Given the description of an element on the screen output the (x, y) to click on. 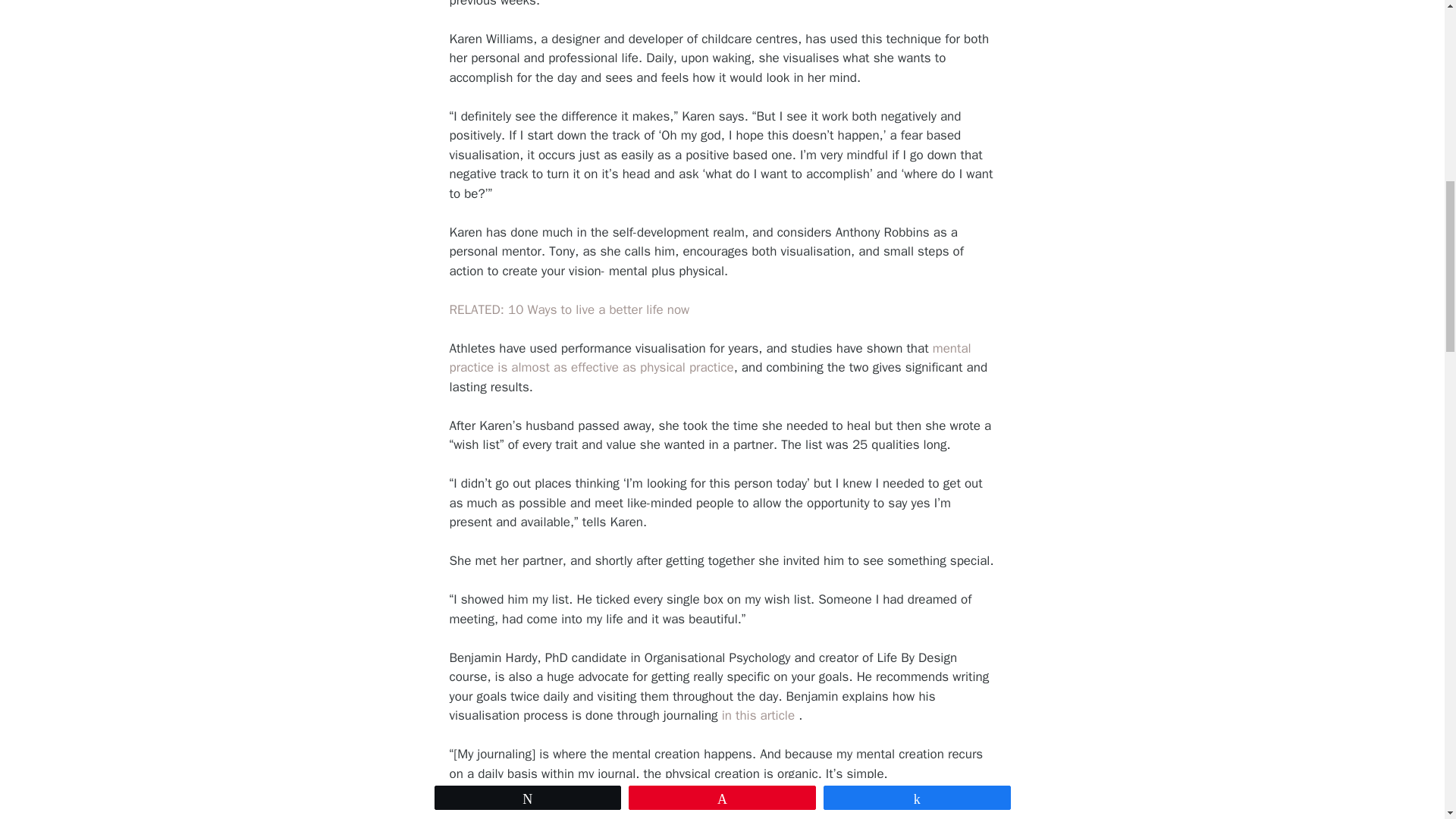
RELATED: 10 Ways to live a better life now (568, 309)
mental practice is almost as effective as physical practice (709, 357)
in this article (758, 715)
Scroll back to top (1406, 720)
